Given the description of an element on the screen output the (x, y) to click on. 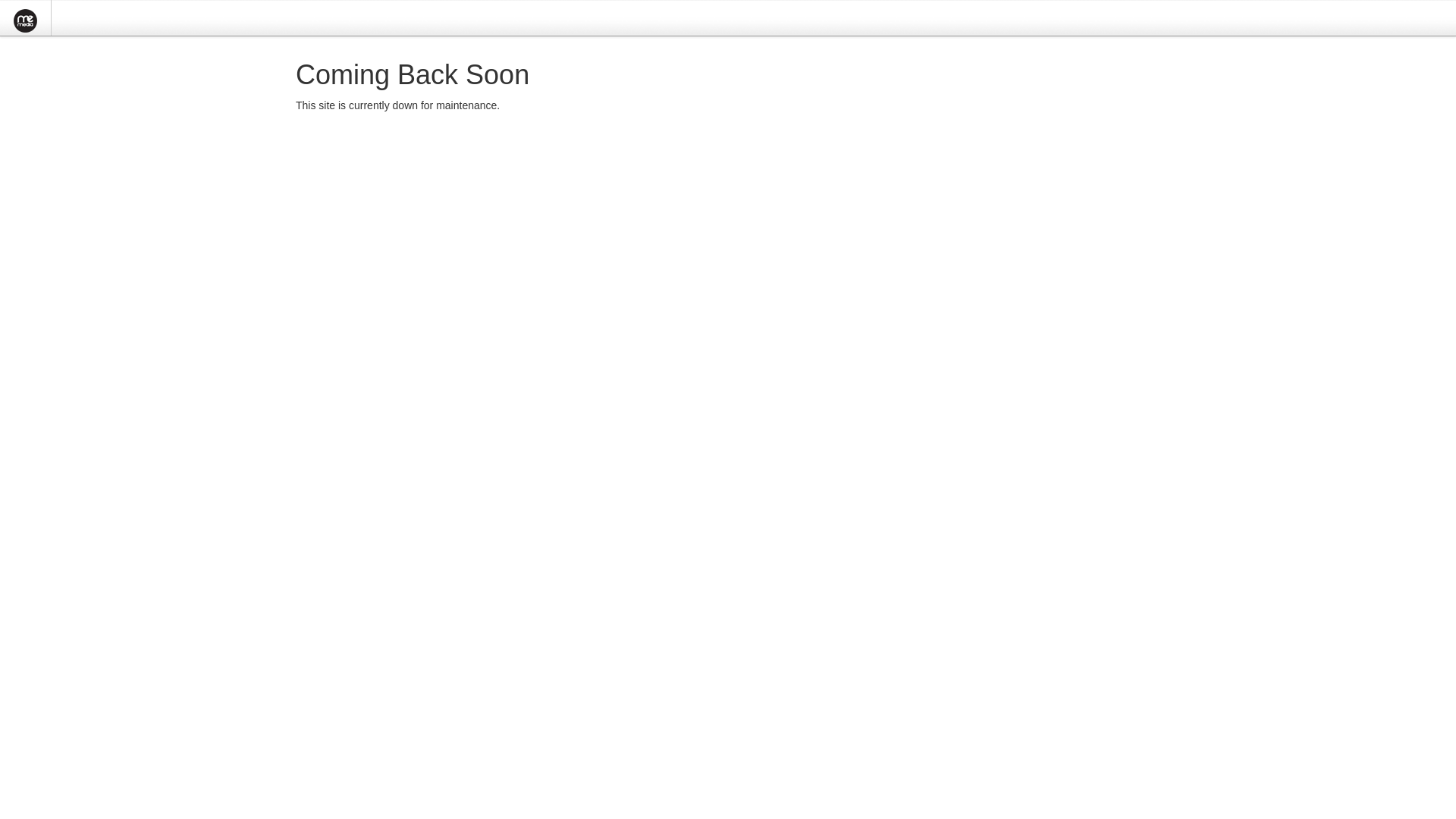
MeMedia CMSME Element type: hover (25, 20)
